Given the description of an element on the screen output the (x, y) to click on. 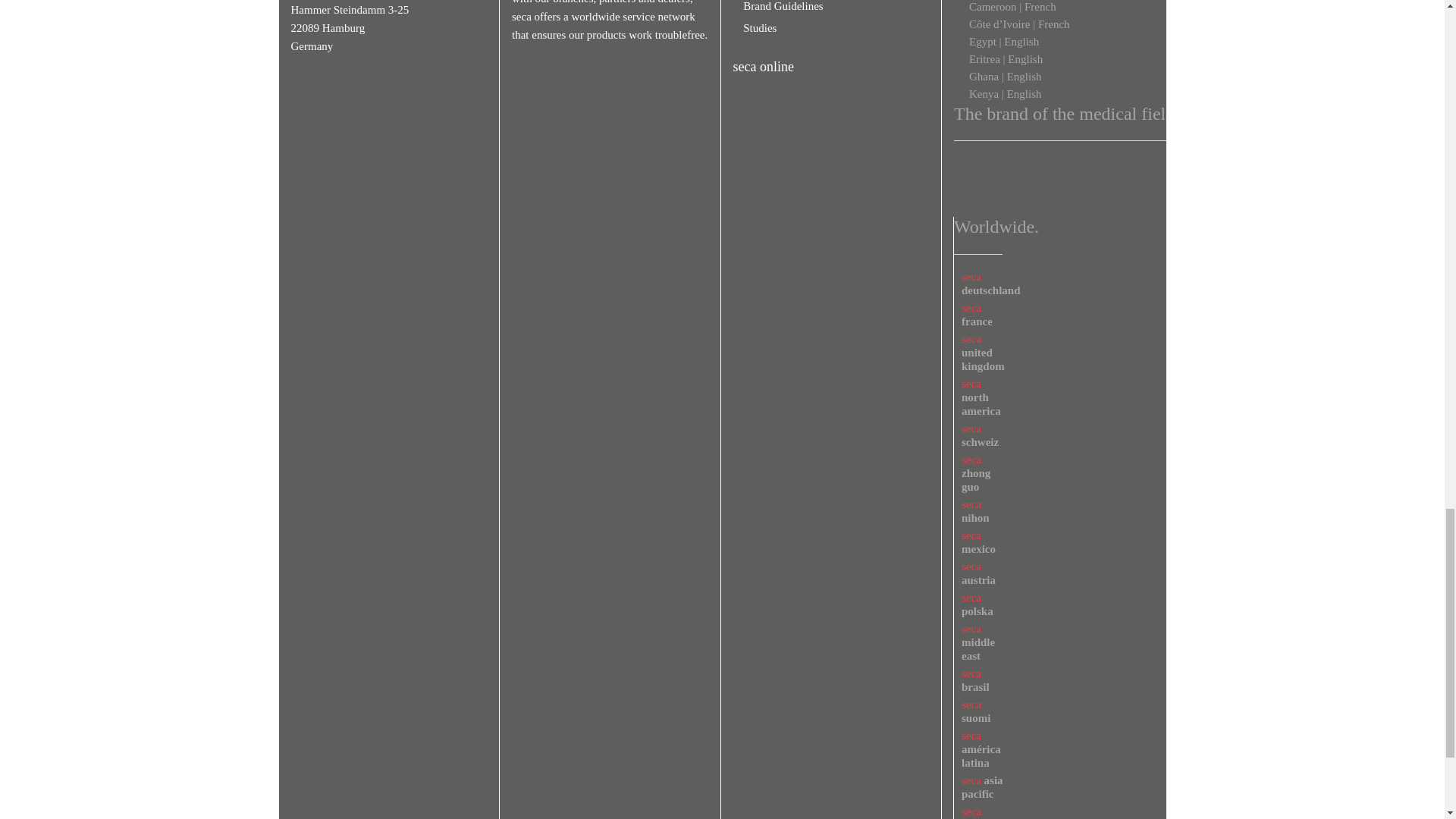
Brand Guidelines (778, 6)
Studies (755, 28)
Brand Guidelines (778, 6)
